Given the description of an element on the screen output the (x, y) to click on. 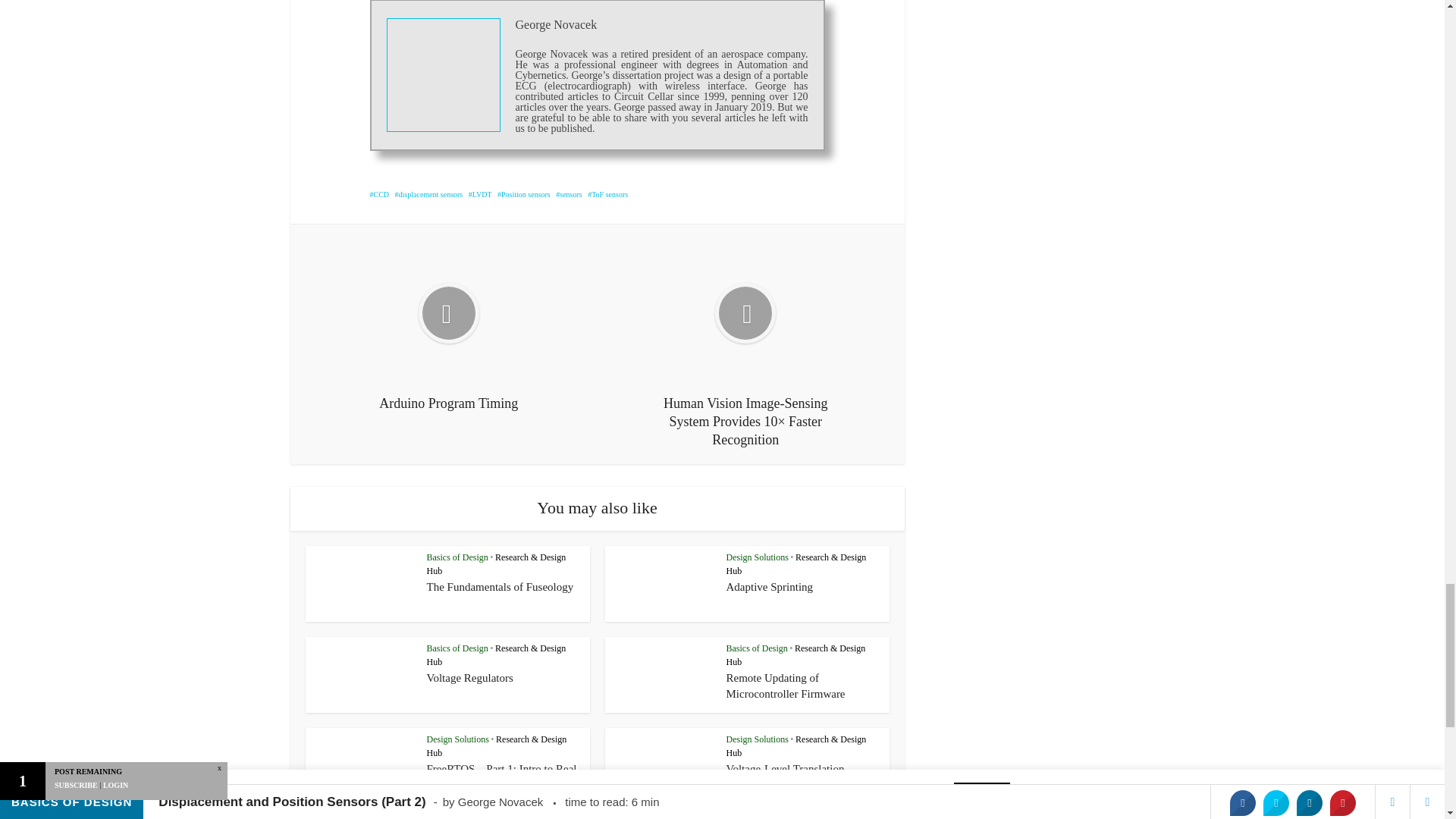
Adaptive Sprinting (769, 586)
The Fundamentals of Fuseology (499, 586)
Voltage Regulators (469, 677)
Voltage-Level Translation Techniques (785, 776)
